Given the description of an element on the screen output the (x, y) to click on. 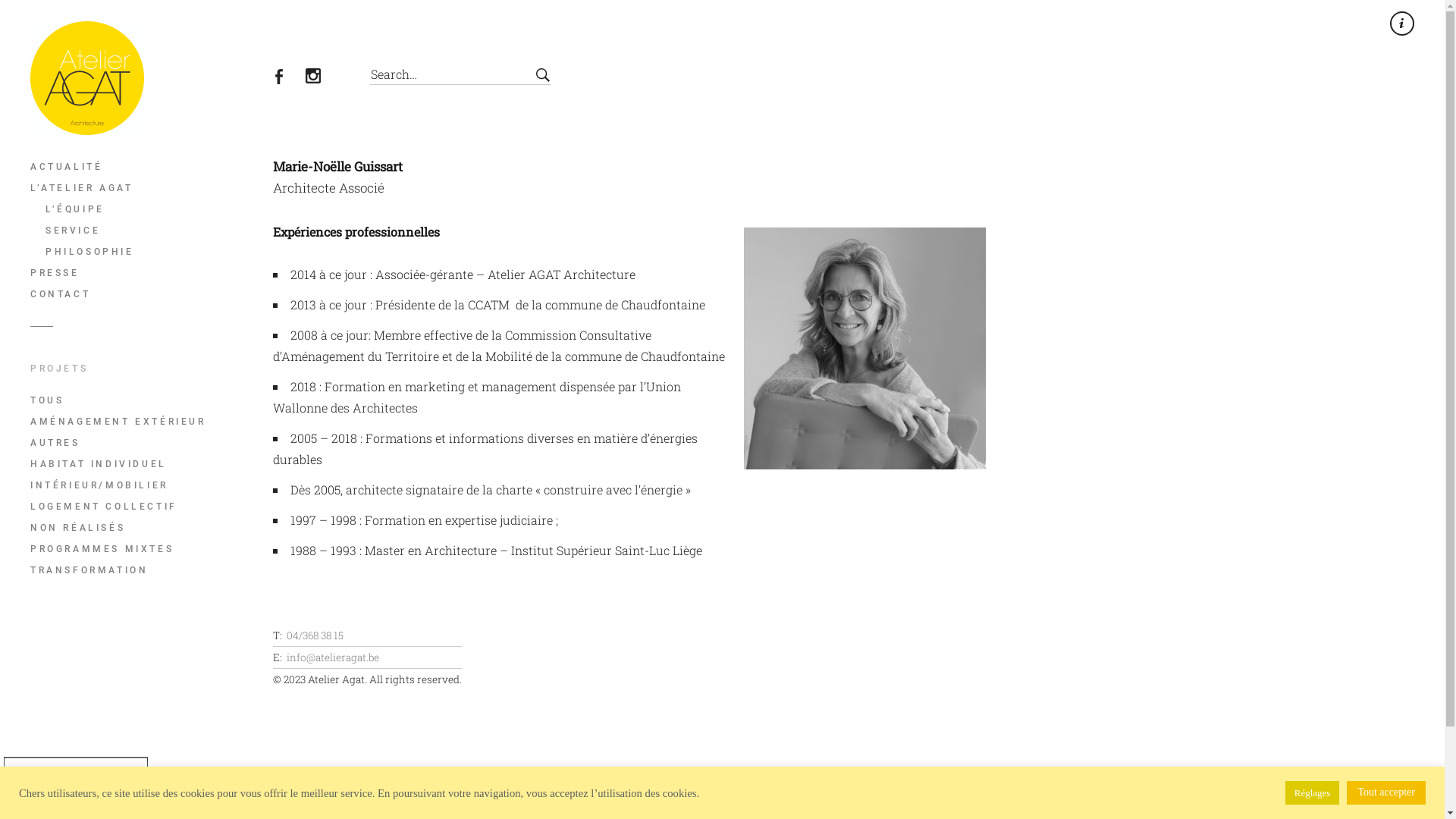
AUTRES Element type: text (144, 442)
TOUS Element type: text (144, 400)
SERVICE Element type: text (152, 230)
HABITAT INDIVIDUEL Element type: text (144, 463)
PRESSE Element type: text (144, 272)
TRANSFORMATION Element type: text (144, 569)
04/368 38 15 Element type: text (314, 635)
Instagram Element type: hover (321, 77)
info@atelieragat.be Element type: text (332, 657)
LOGEMENT COLLECTIF Element type: text (144, 506)
CONTACT Element type: text (144, 293)
Tout accepter Element type: text (1385, 792)
FaceBook Element type: hover (287, 77)
PHILOSOPHIE Element type: text (152, 251)
PROGRAMMES MIXTES Element type: text (144, 548)
